Given the description of an element on the screen output the (x, y) to click on. 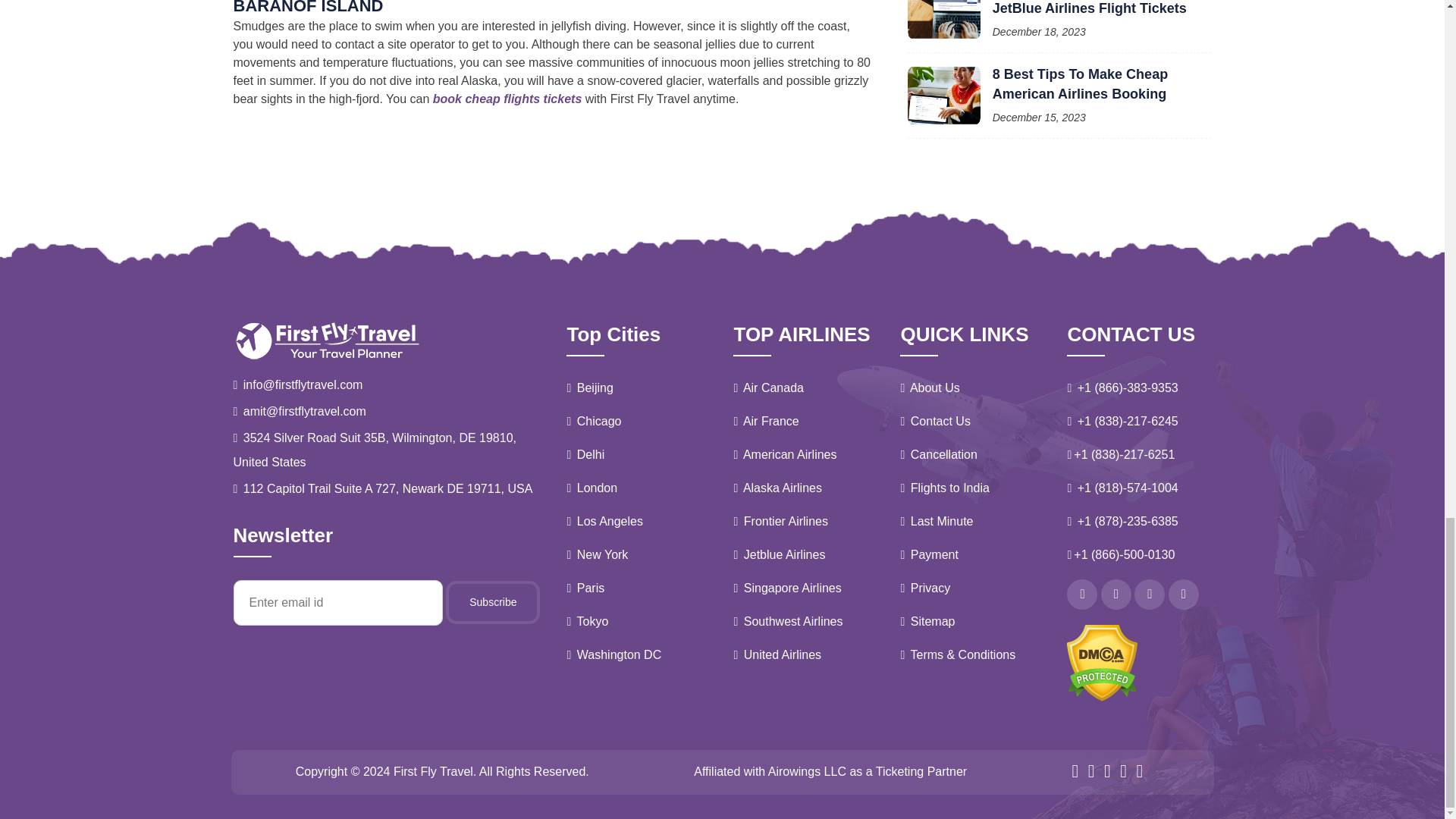
Facebook (1082, 594)
youtube (1183, 594)
DMCA.com Protection Status (1102, 661)
Twitter (1115, 594)
instagram (1149, 594)
